Given the description of an element on the screen output the (x, y) to click on. 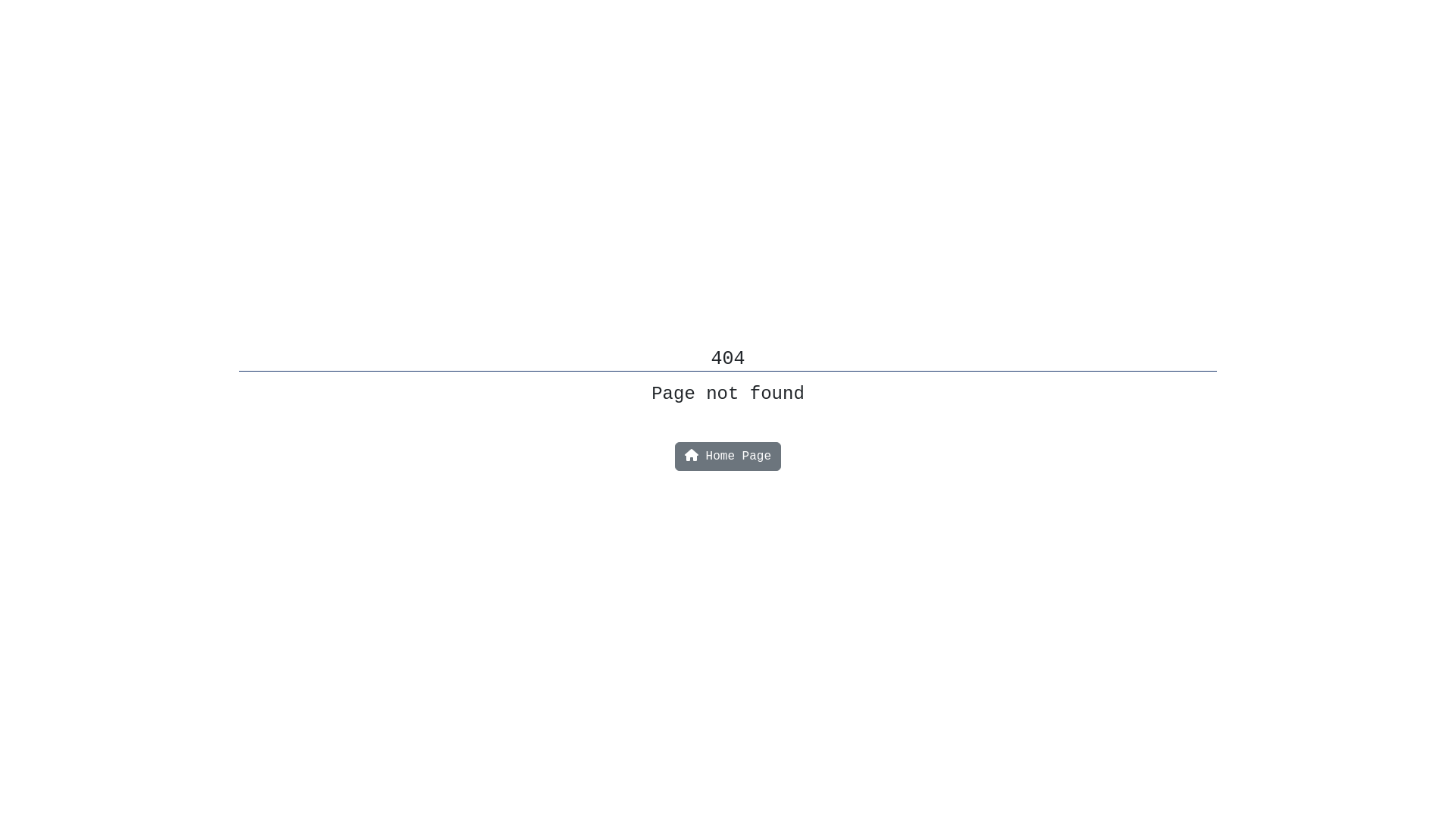
Home Page Element type: text (727, 456)
